Given the description of an element on the screen output the (x, y) to click on. 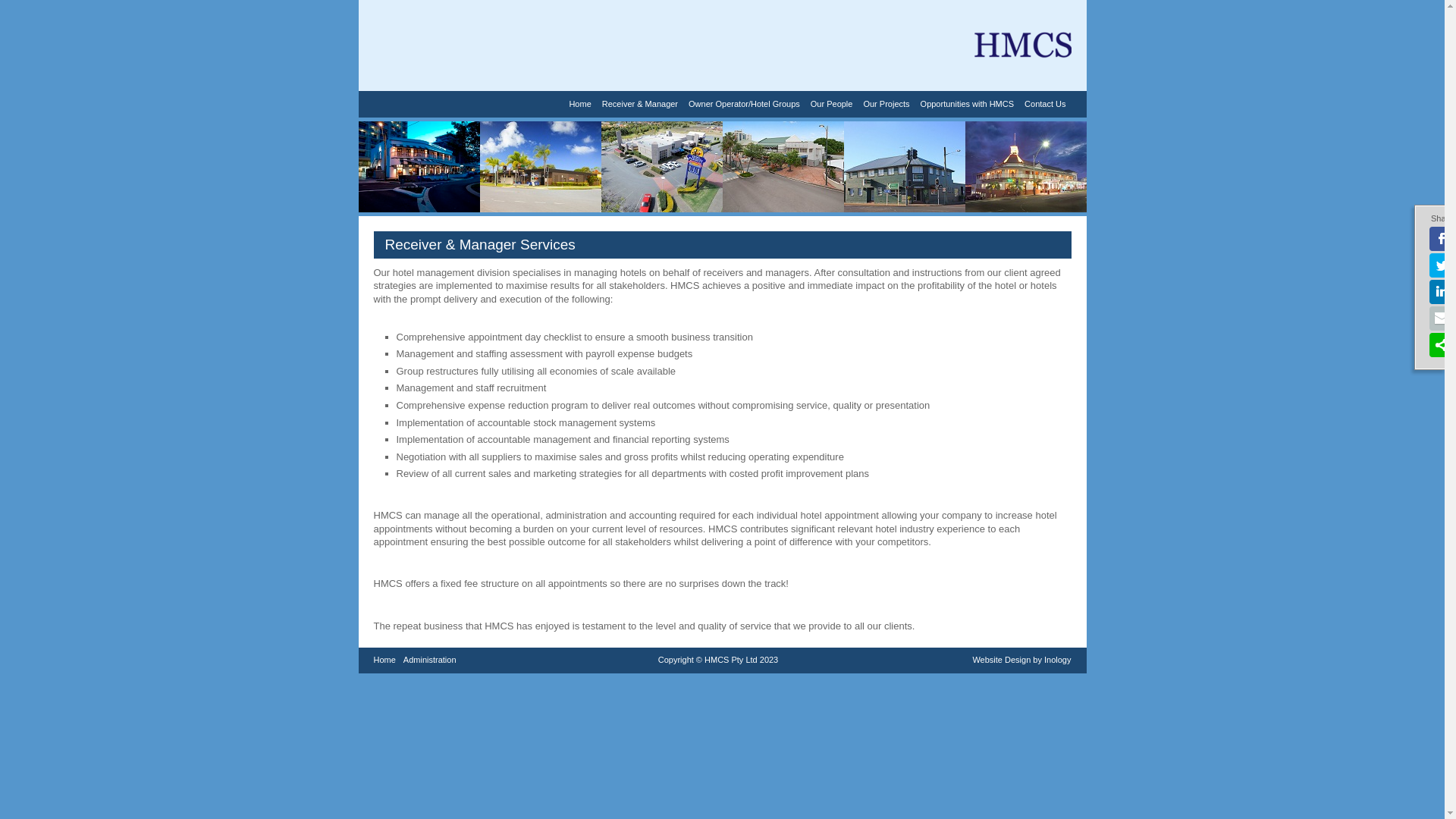
Contact Us Element type: text (1044, 103)
Owner Operator/Hotel Groups Element type: text (744, 103)
Our Projects Element type: text (885, 103)
Receiver & Manager Element type: text (639, 103)
Home Element type: text (384, 660)
Inology Element type: text (1057, 659)
Our People Element type: text (831, 103)
Home Element type: text (579, 103)
Website Design Element type: text (1001, 659)
Administration Element type: text (429, 660)
Opportunities with HMCS Element type: text (967, 103)
